Given the description of an element on the screen output the (x, y) to click on. 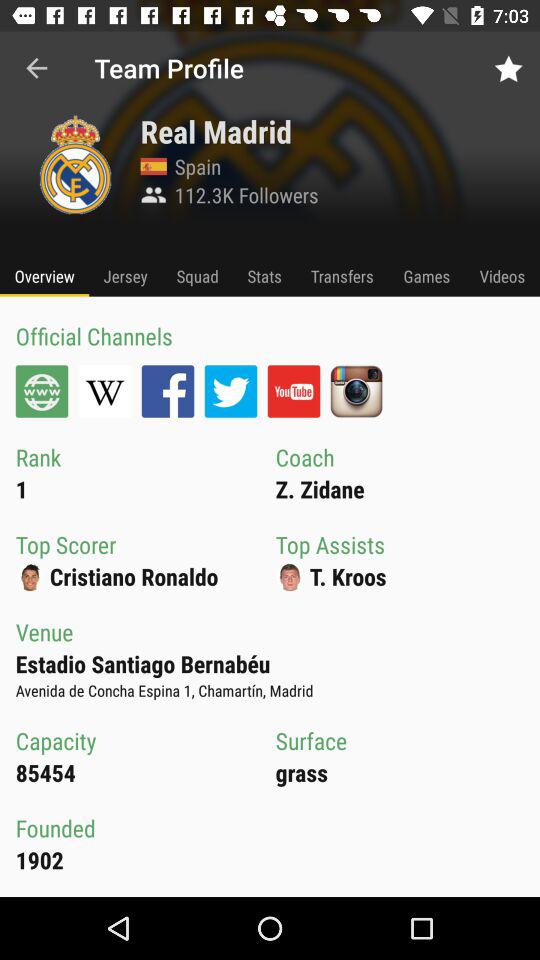
tap the icon below official channels item (104, 391)
